Given the description of an element on the screen output the (x, y) to click on. 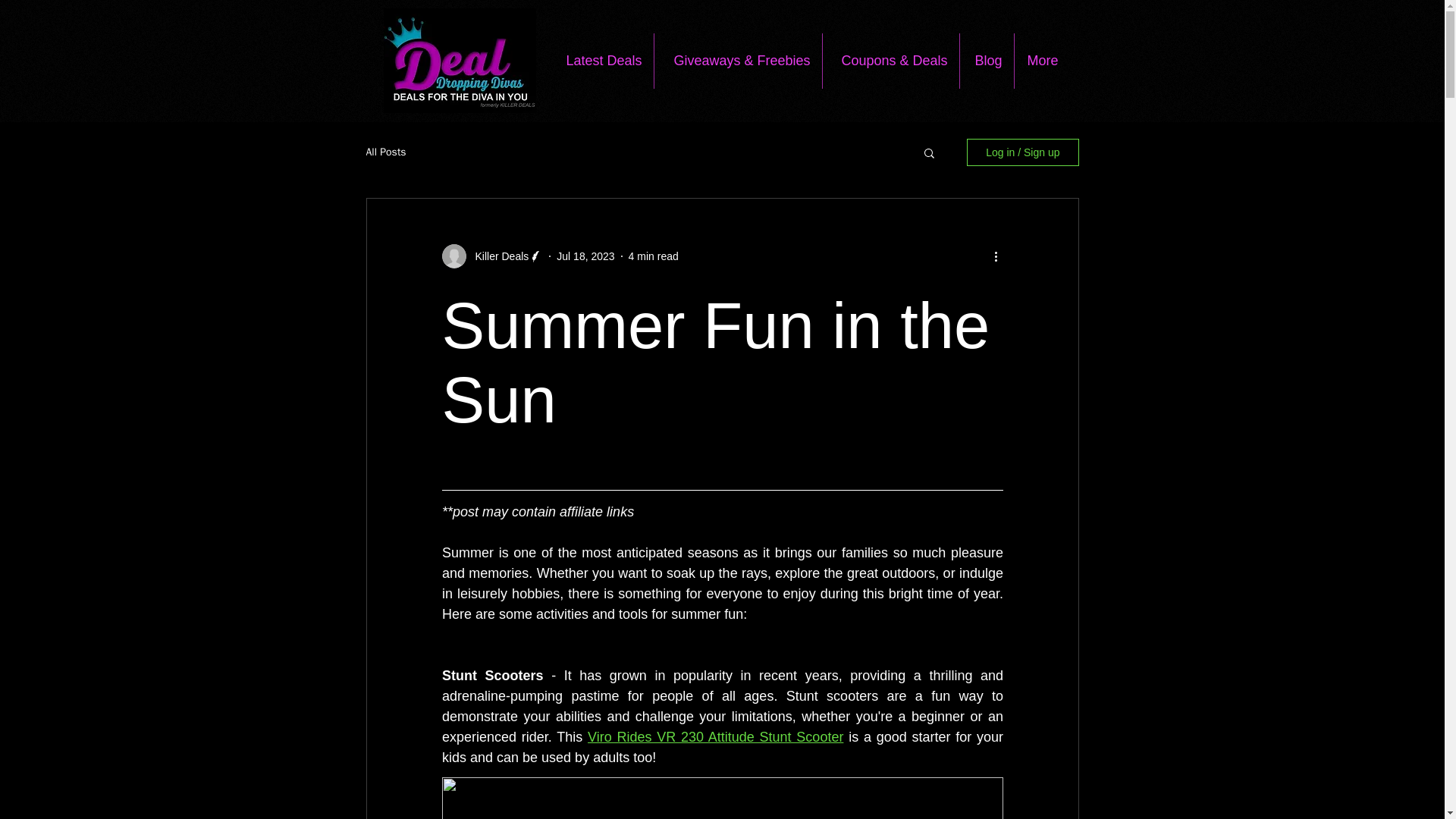
Blog (986, 60)
Latest Deals (600, 60)
4 min read (653, 256)
Jul 18, 2023 (585, 256)
Killer Deals  (496, 256)
All Posts (385, 151)
Viro Rides VR 230 Attitude Stunt Scooter (715, 736)
